Given the description of an element on the screen output the (x, y) to click on. 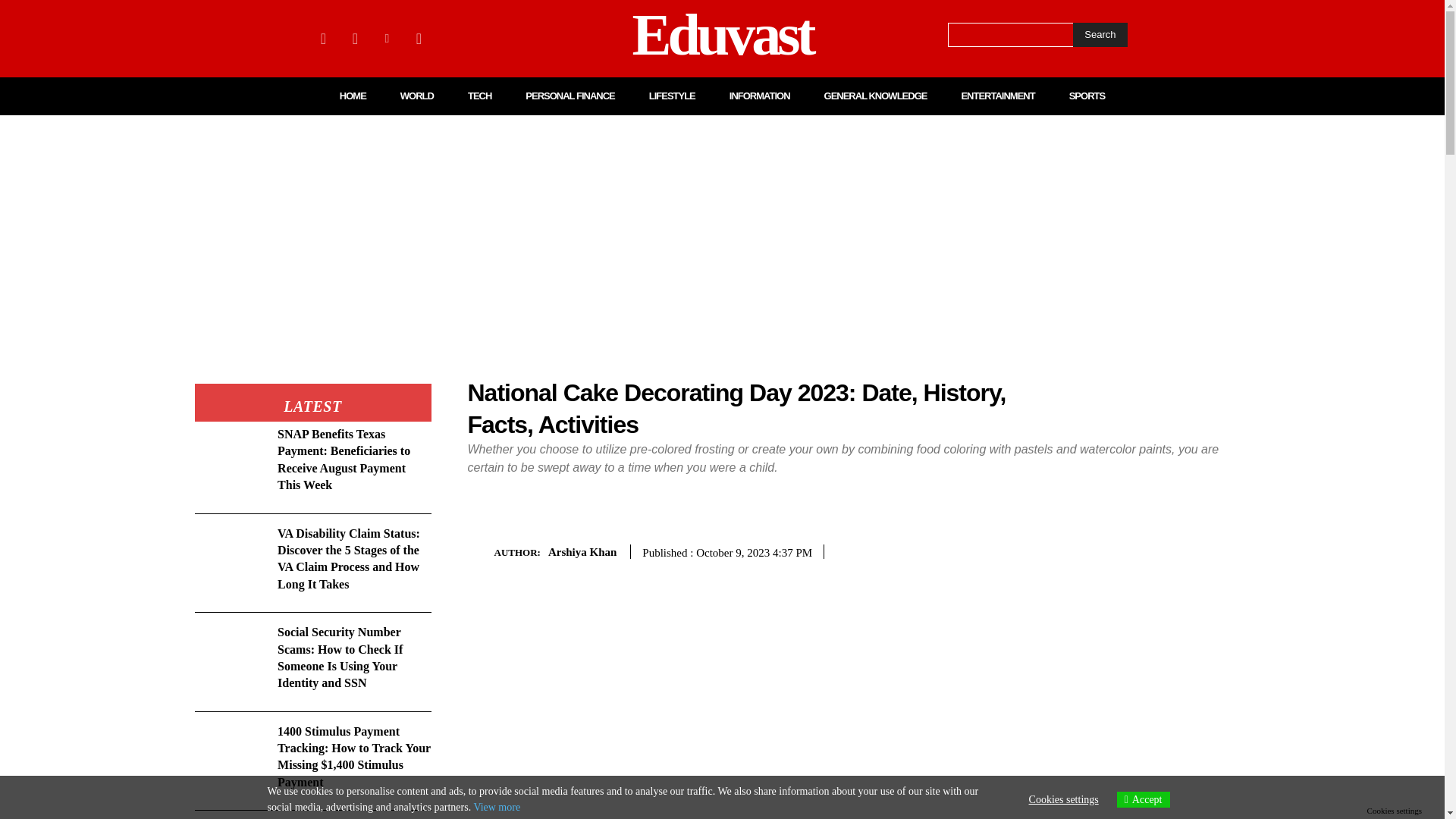
GENERAL KNOWLEDGE (875, 95)
Twitter (418, 38)
Facebook (322, 38)
Search (1099, 34)
INFORMATION (759, 95)
PERSONAL FINANCE (569, 95)
